Given the description of an element on the screen output the (x, y) to click on. 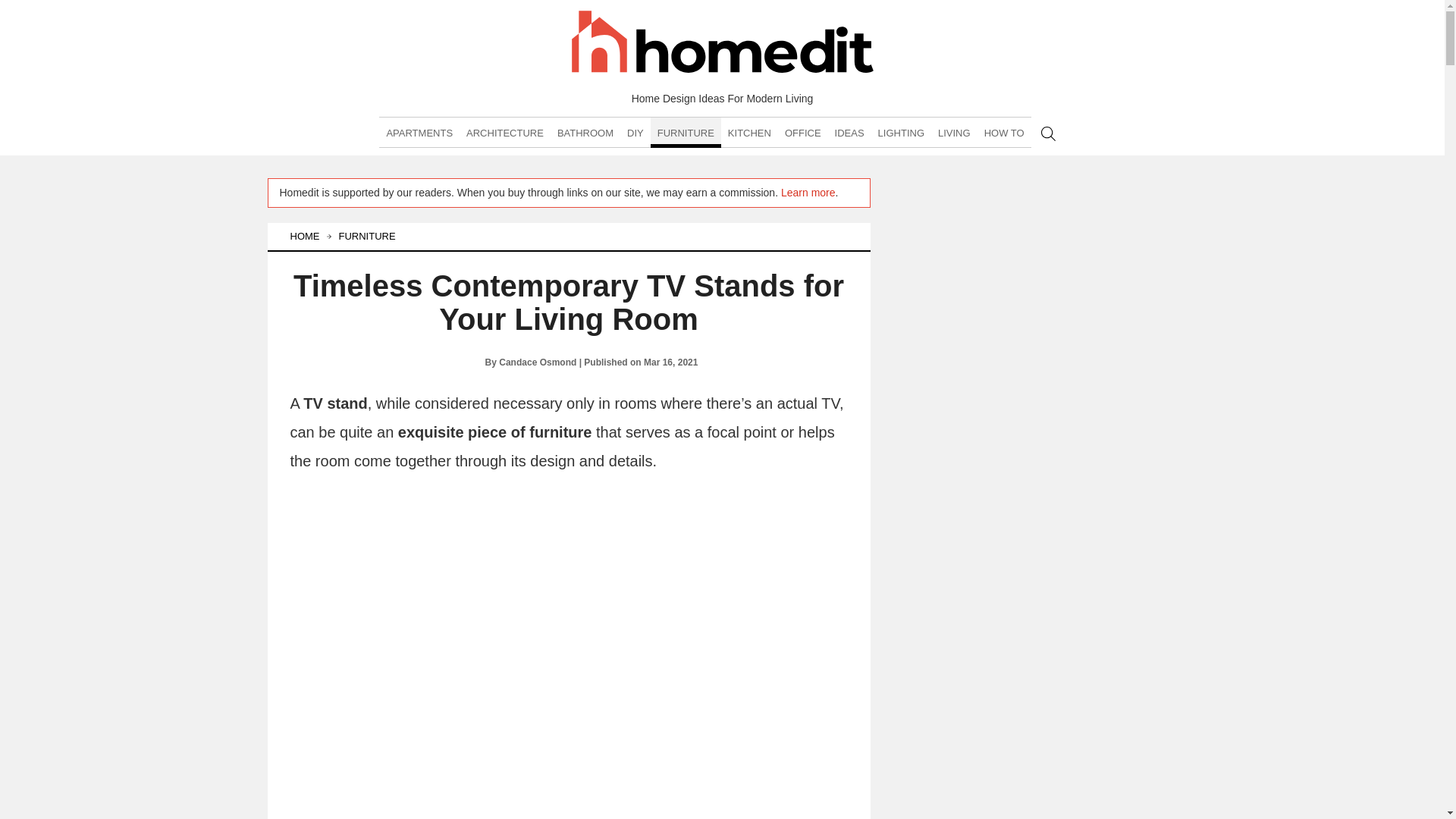
IDEAS (849, 132)
Homedit (721, 44)
Candace Osmond (537, 362)
Learn more (807, 192)
HOME (308, 236)
ARCHITECTURE (505, 132)
DIY (635, 132)
Search (1047, 133)
LIGHTING (900, 132)
OFFICE (802, 132)
Candace Osmond (454, 362)
HOW TO (1003, 132)
BATHROOM (585, 132)
KITCHEN (748, 132)
FURNITURE (370, 236)
